Given the description of an element on the screen output the (x, y) to click on. 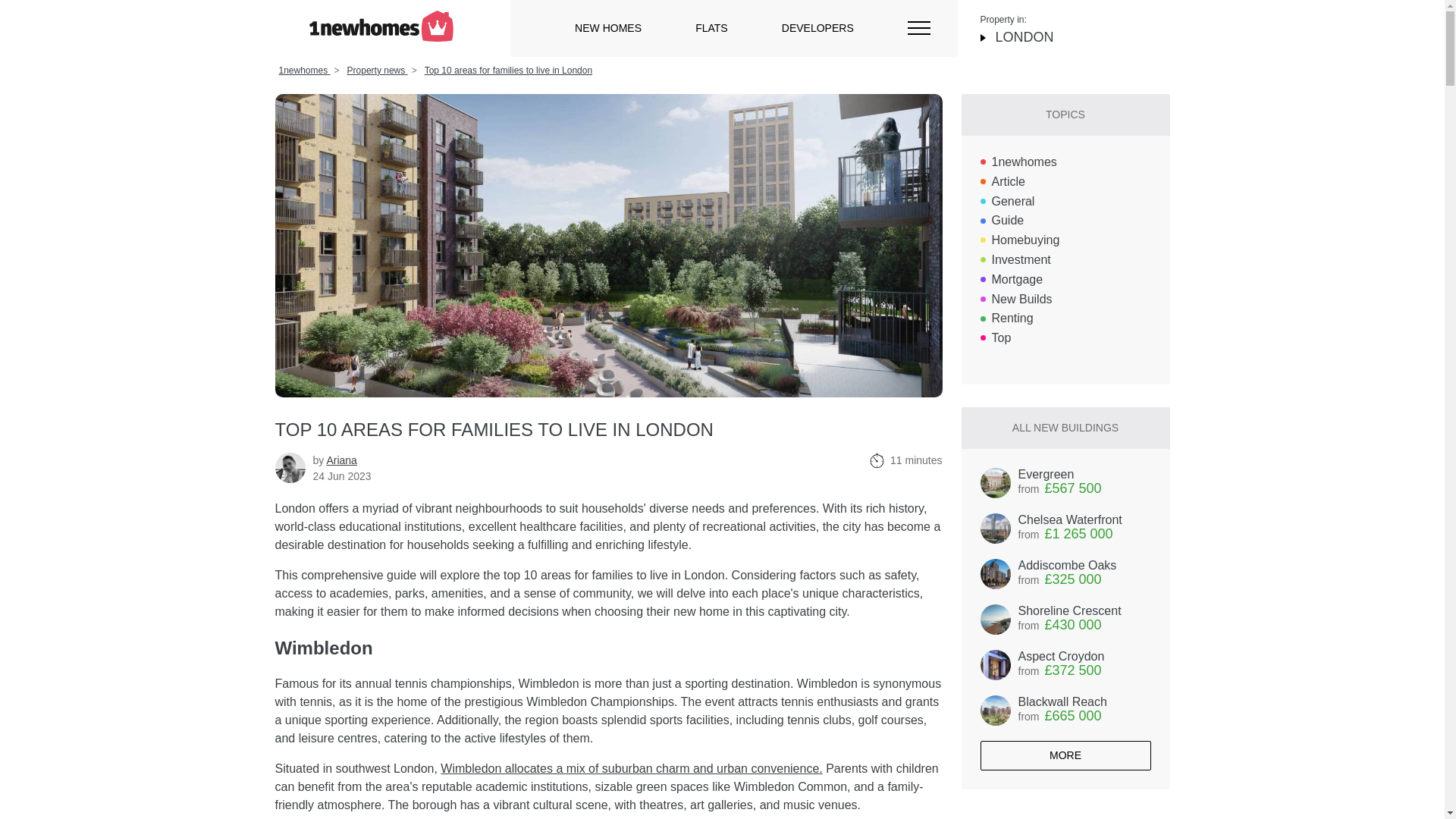
MORE (1064, 755)
Investment (1064, 260)
New Builds (1064, 482)
Mortgage (1064, 299)
DEVELOPERS (1064, 279)
Top 10 areas for families to live in London (817, 28)
NEW HOMES (508, 70)
Guide (608, 28)
Ariana (1064, 220)
New Marvelous Homes In Wimbledon (341, 460)
Top (1064, 528)
Renting (631, 768)
